Given the description of an element on the screen output the (x, y) to click on. 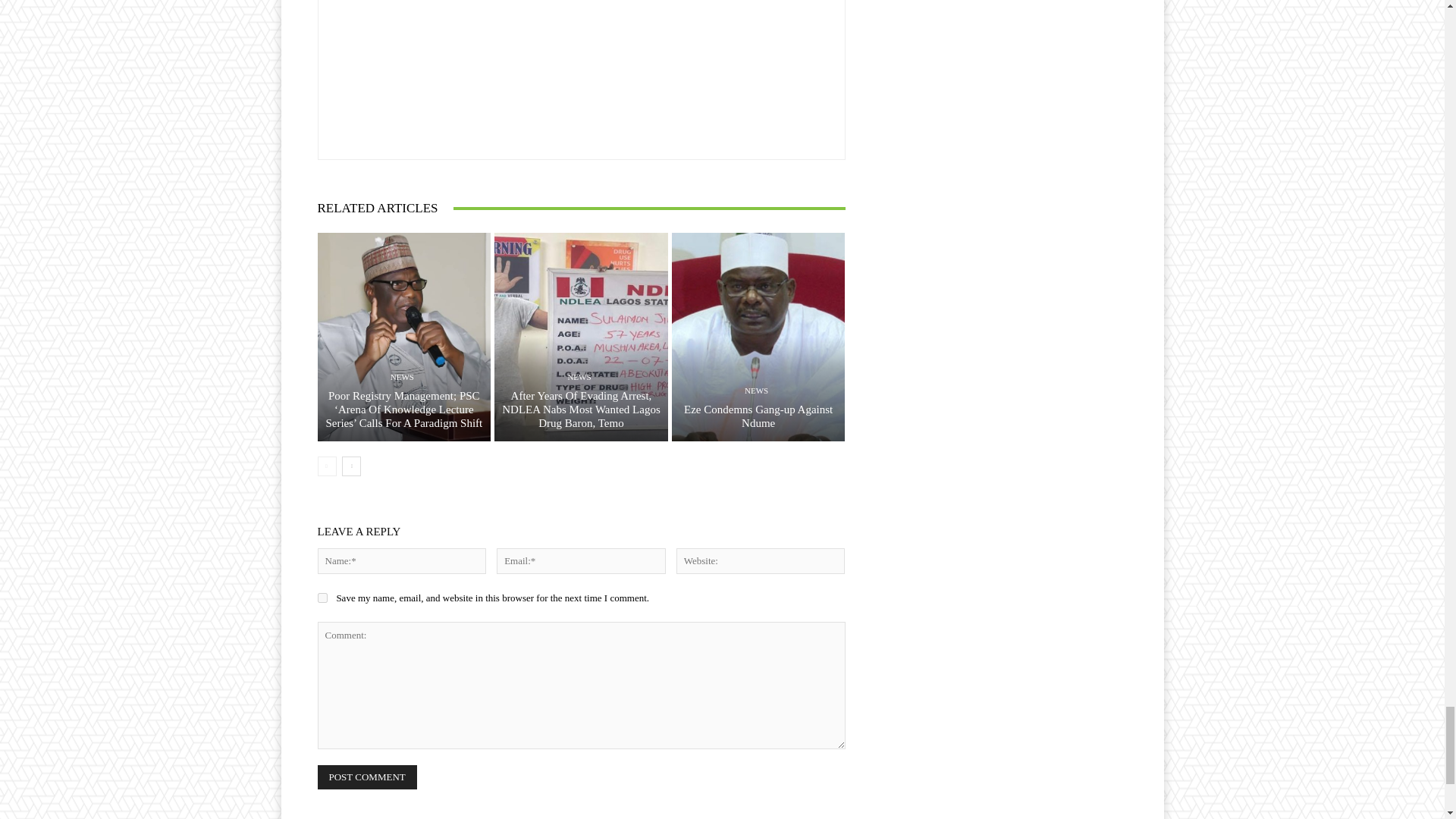
Post Comment (366, 776)
yes (321, 597)
